Given the description of an element on the screen output the (x, y) to click on. 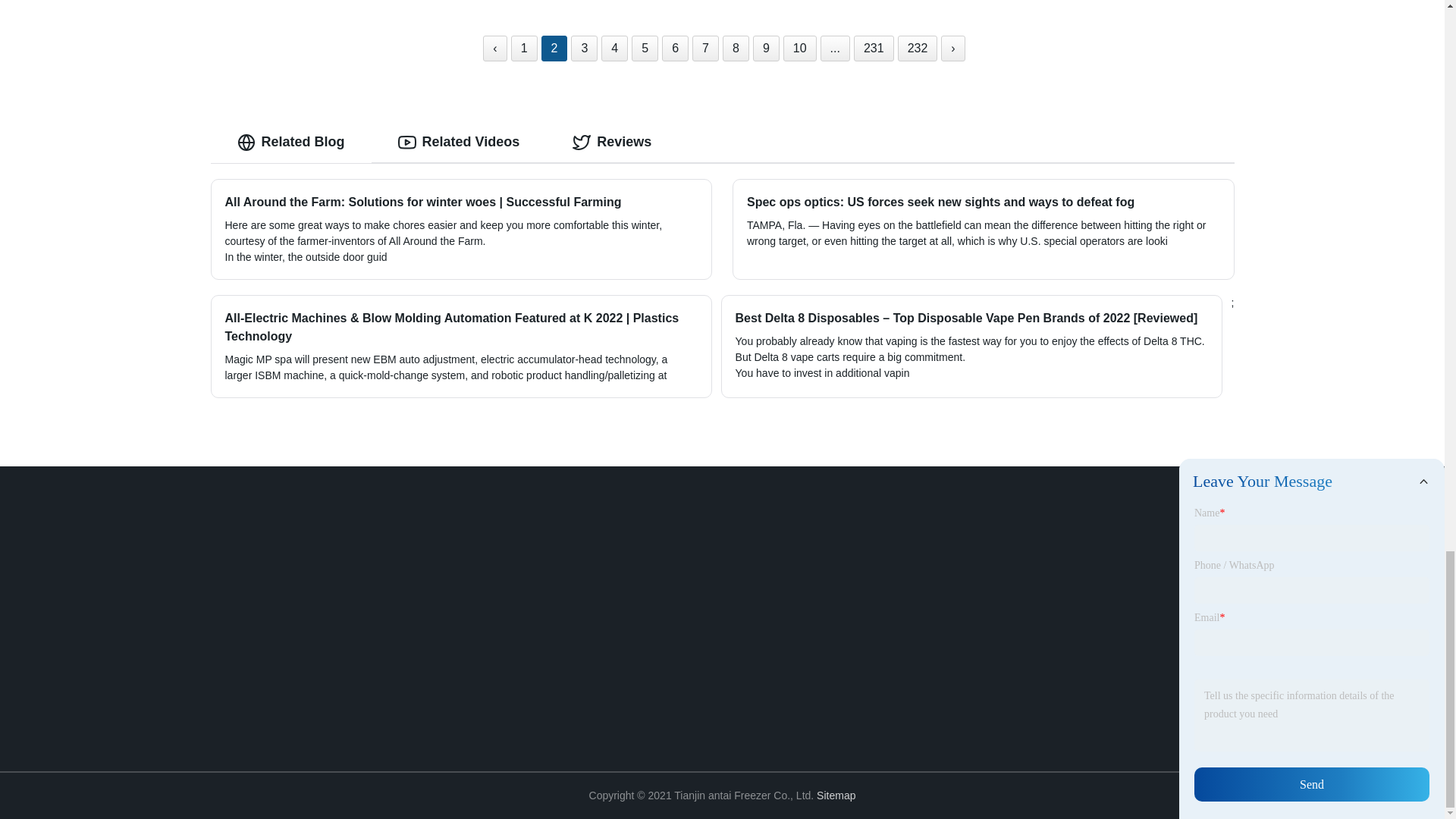
232 (917, 48)
1 (524, 48)
3 (583, 48)
4 (614, 48)
8 (735, 48)
231 (873, 48)
7 (706, 48)
6 (675, 48)
5 (644, 48)
10 (799, 48)
9 (765, 48)
